Given the description of an element on the screen output the (x, y) to click on. 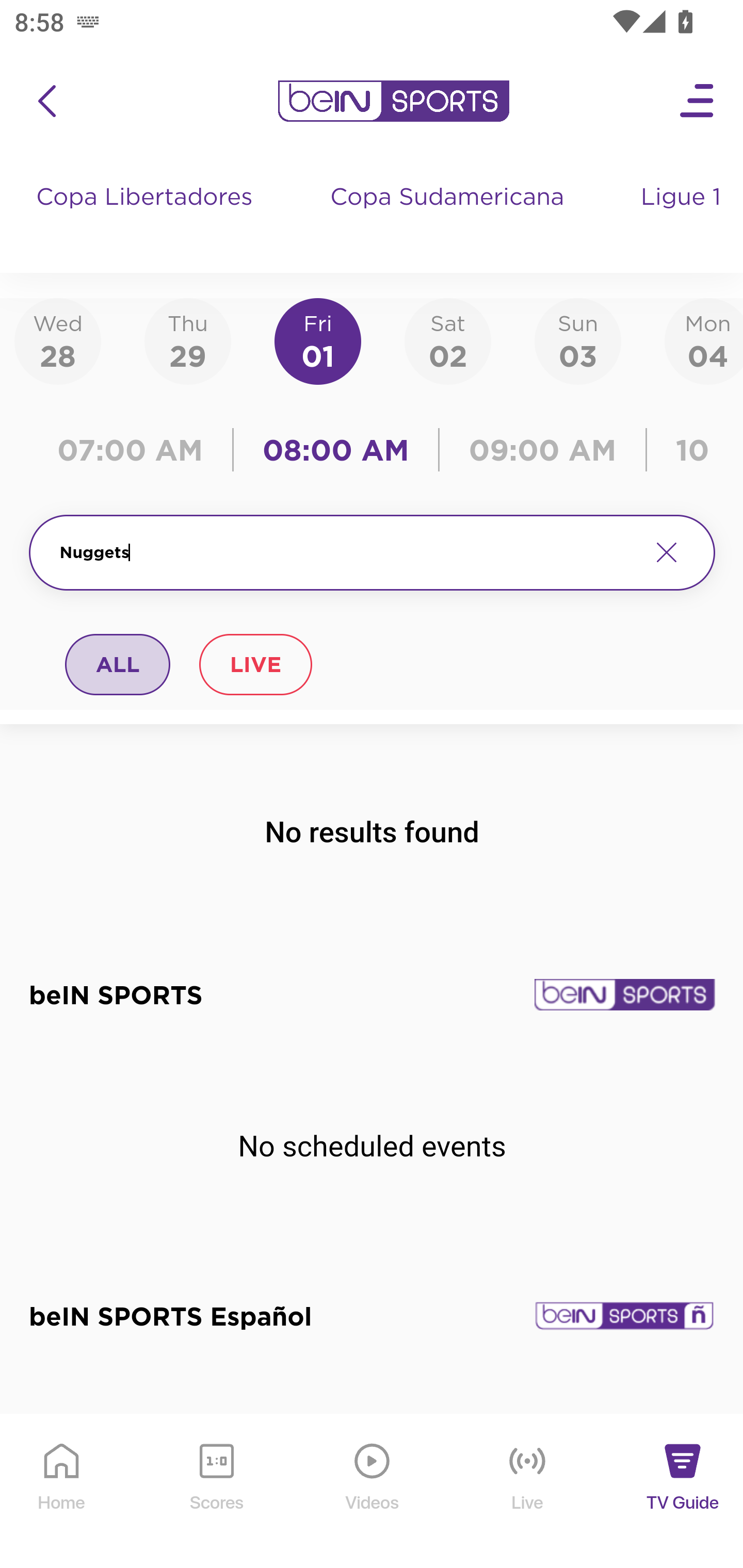
en-us?platform=mobile_android bein logo (392, 101)
icon back (46, 101)
Open Menu Icon (697, 101)
Copa Libertadores (146, 216)
Copa Sudamericana (448, 216)
Ligue 1 (682, 216)
Wed28 (58, 340)
Thu29 (187, 340)
Fri01 (318, 340)
Sat02 (447, 340)
Sun03 (578, 340)
Mon04 (703, 340)
07:00 AM (135, 449)
08:00 AM (336, 449)
09:00 AM (542, 449)
Nuggets (346, 552)
ALL (118, 663)
LIVE (255, 663)
Home Home Icon Home (61, 1491)
Scores Scores Icon Scores (216, 1491)
Videos Videos Icon Videos (372, 1491)
TV Guide TV Guide Icon TV Guide (682, 1491)
